Given the description of an element on the screen output the (x, y) to click on. 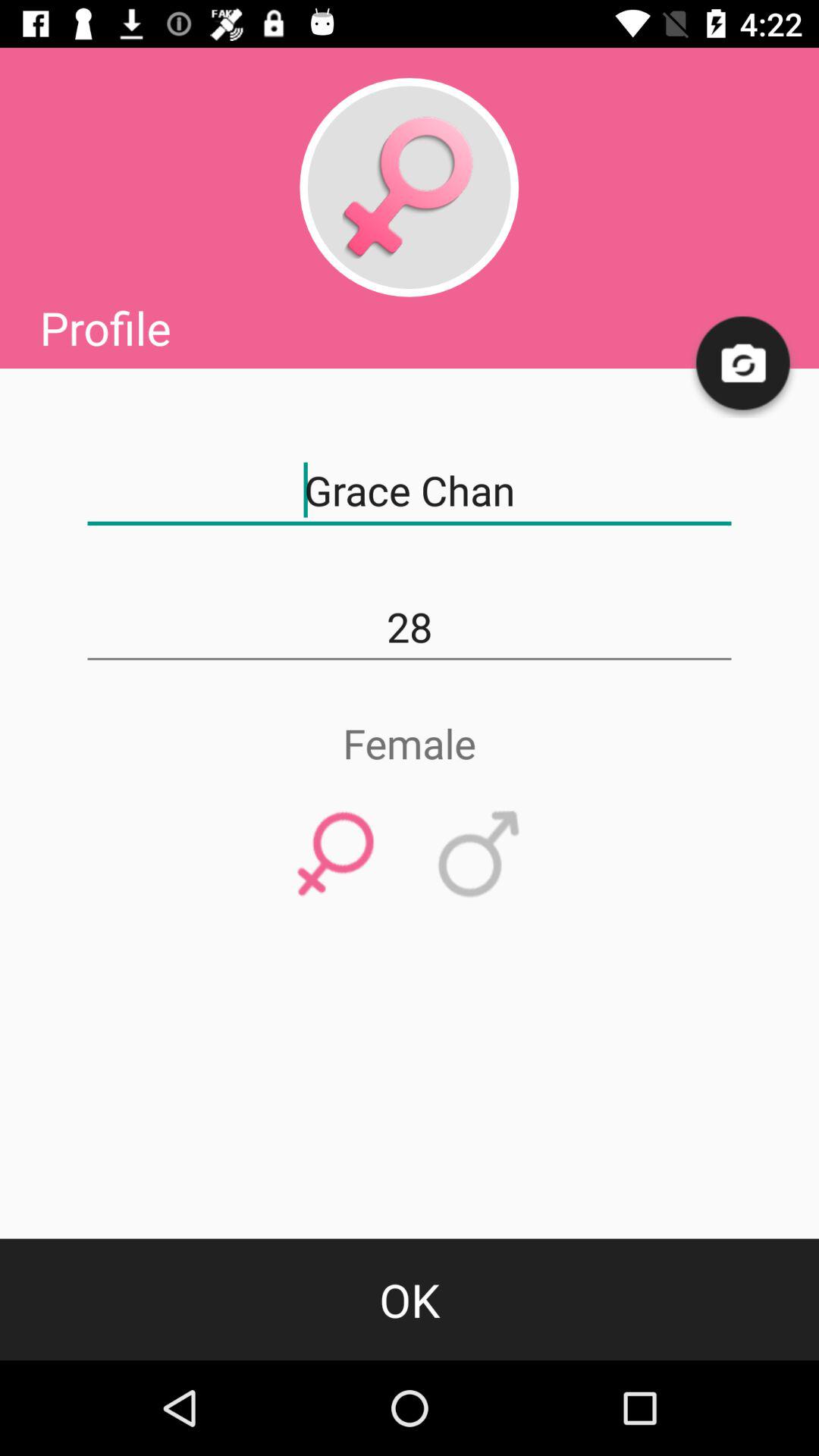
swipe to 28 (409, 626)
